Given the description of an element on the screen output the (x, y) to click on. 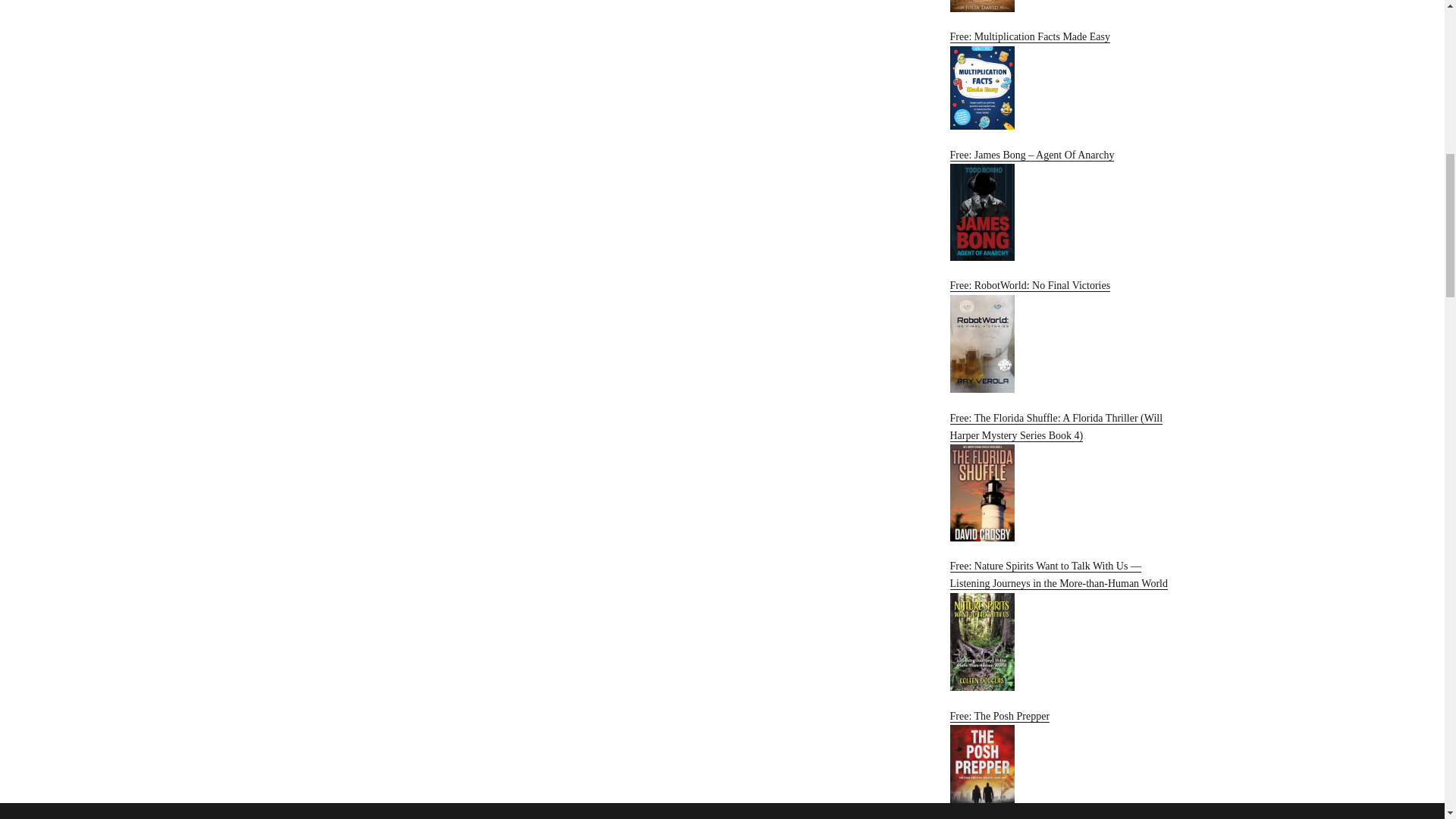
Free: The Posh Prepper (1062, 764)
Free: RobotWorld: No Final Victories (1062, 336)
Free: Multiplication Facts Made Easy (1062, 80)
